Given the description of an element on the screen output the (x, y) to click on. 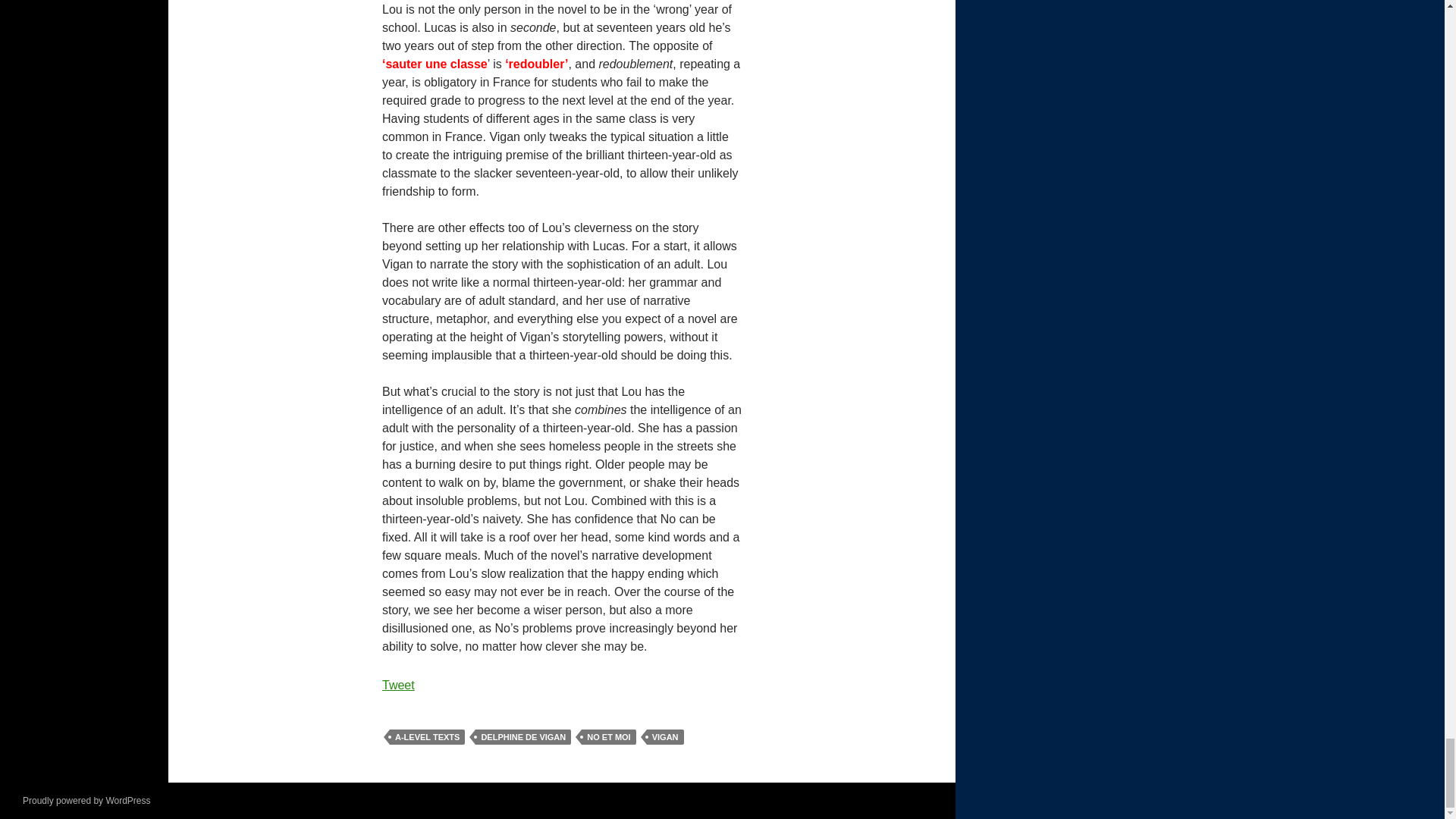
Tweet (397, 684)
DELPHINE DE VIGAN (523, 736)
A-LEVEL TEXTS (427, 736)
